Given the description of an element on the screen output the (x, y) to click on. 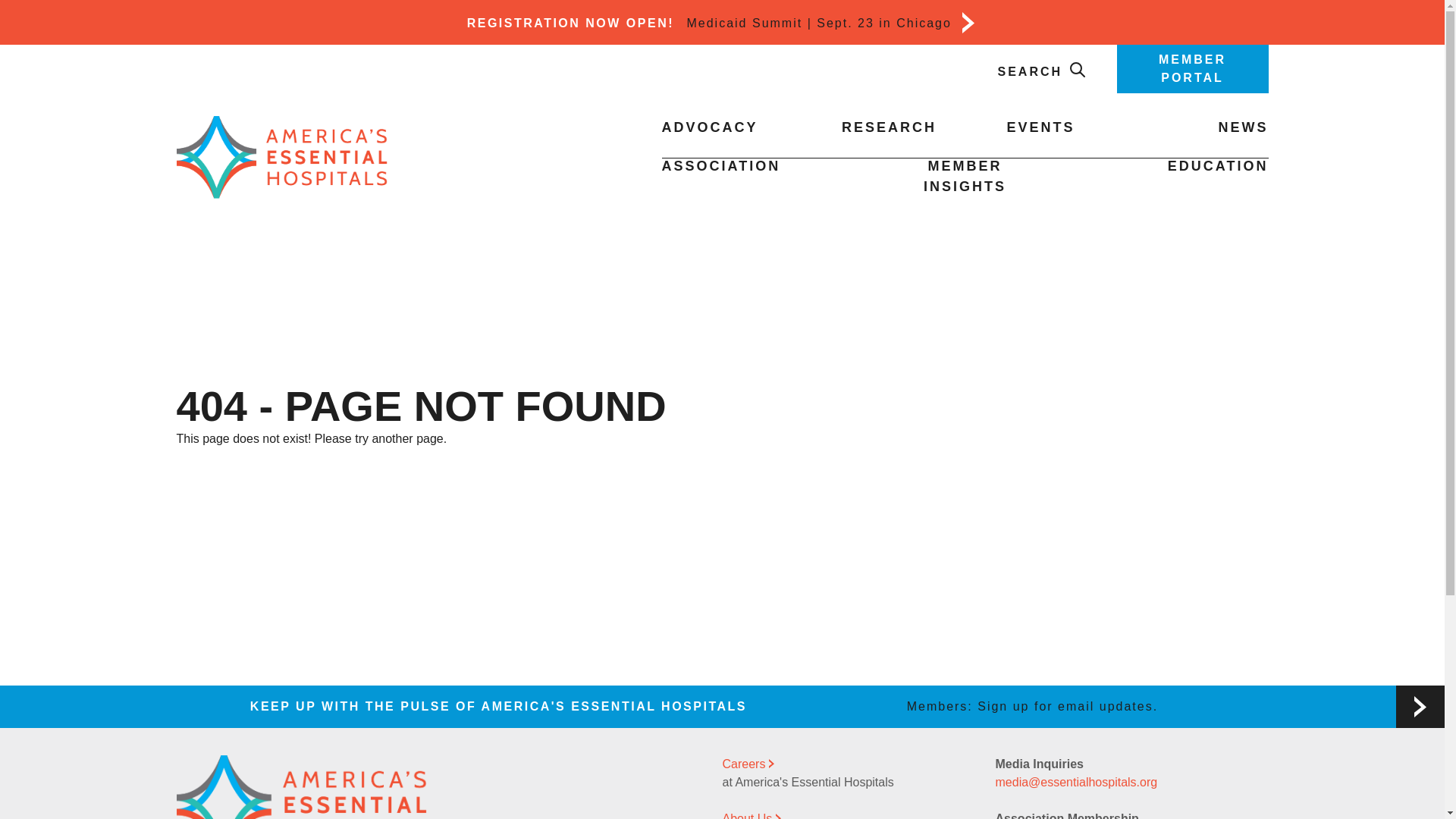
SEARCH (1041, 71)
RESEARCH (888, 127)
ADVOCACY (709, 127)
EVENTS (1040, 127)
ASSOCIATION (720, 165)
MEMBER PORTAL (1191, 68)
EDUCATION (1217, 165)
NEWS (1242, 127)
MEMBER INSIGHTS (964, 176)
